Given the description of an element on the screen output the (x, y) to click on. 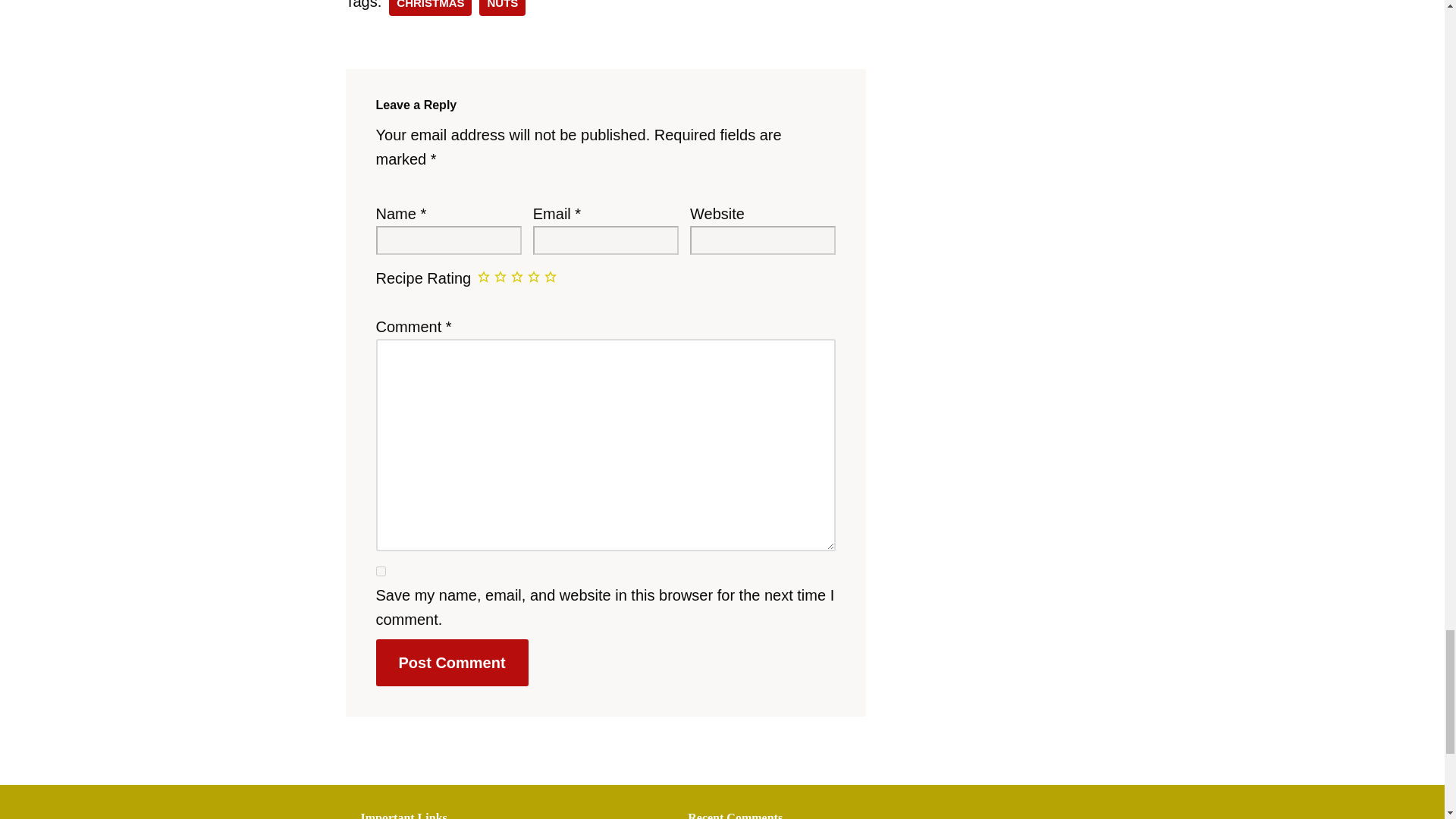
Nuts (502, 7)
Christmas (429, 7)
yes (380, 571)
Post Comment (451, 662)
